Given the description of an element on the screen output the (x, y) to click on. 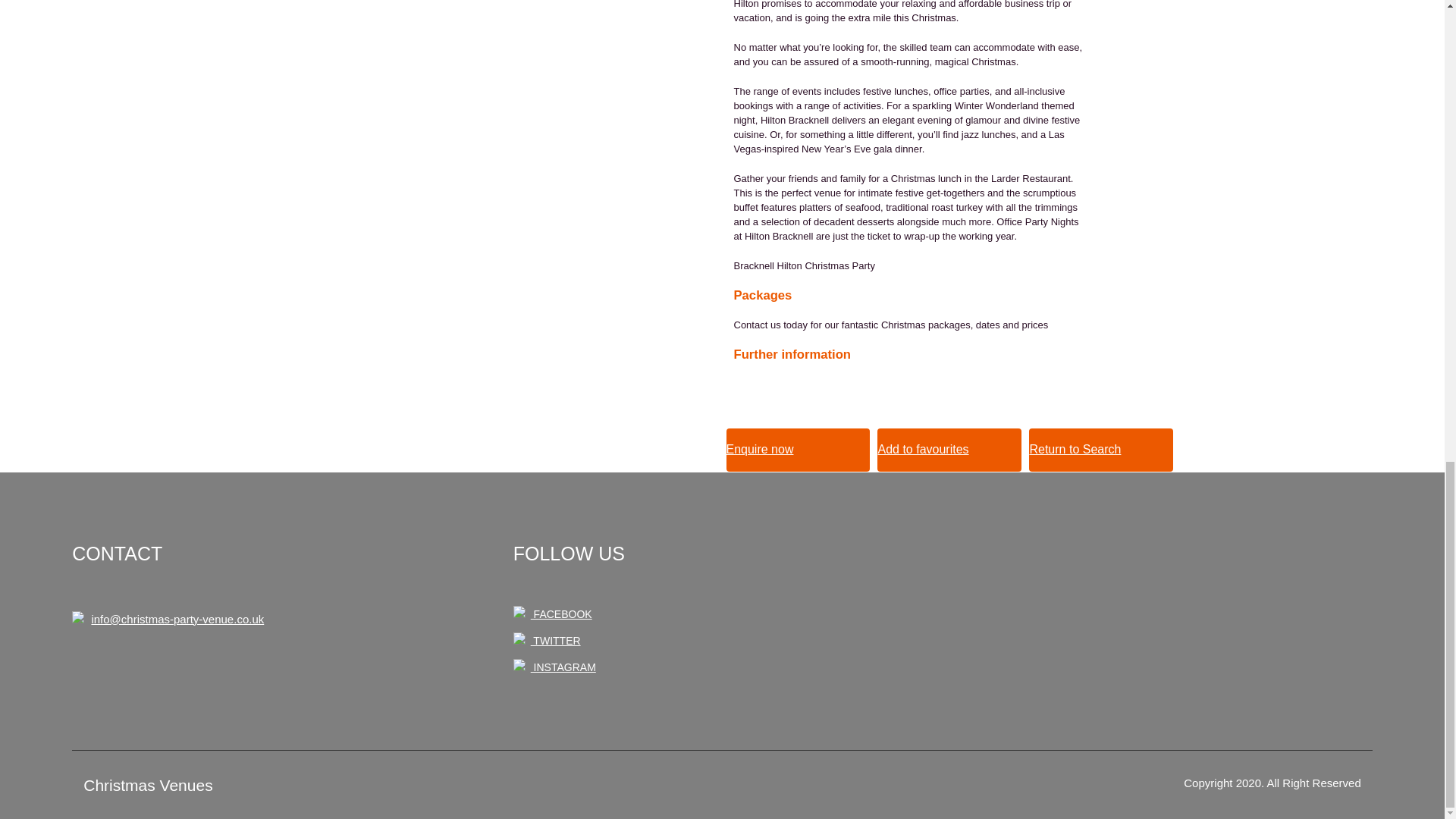
Return to Search (1101, 450)
INSTAGRAM (554, 666)
FACEBOOK (552, 613)
TWITTER (546, 640)
Enquire now (798, 450)
Add to favourites (949, 450)
